Given the description of an element on the screen output the (x, y) to click on. 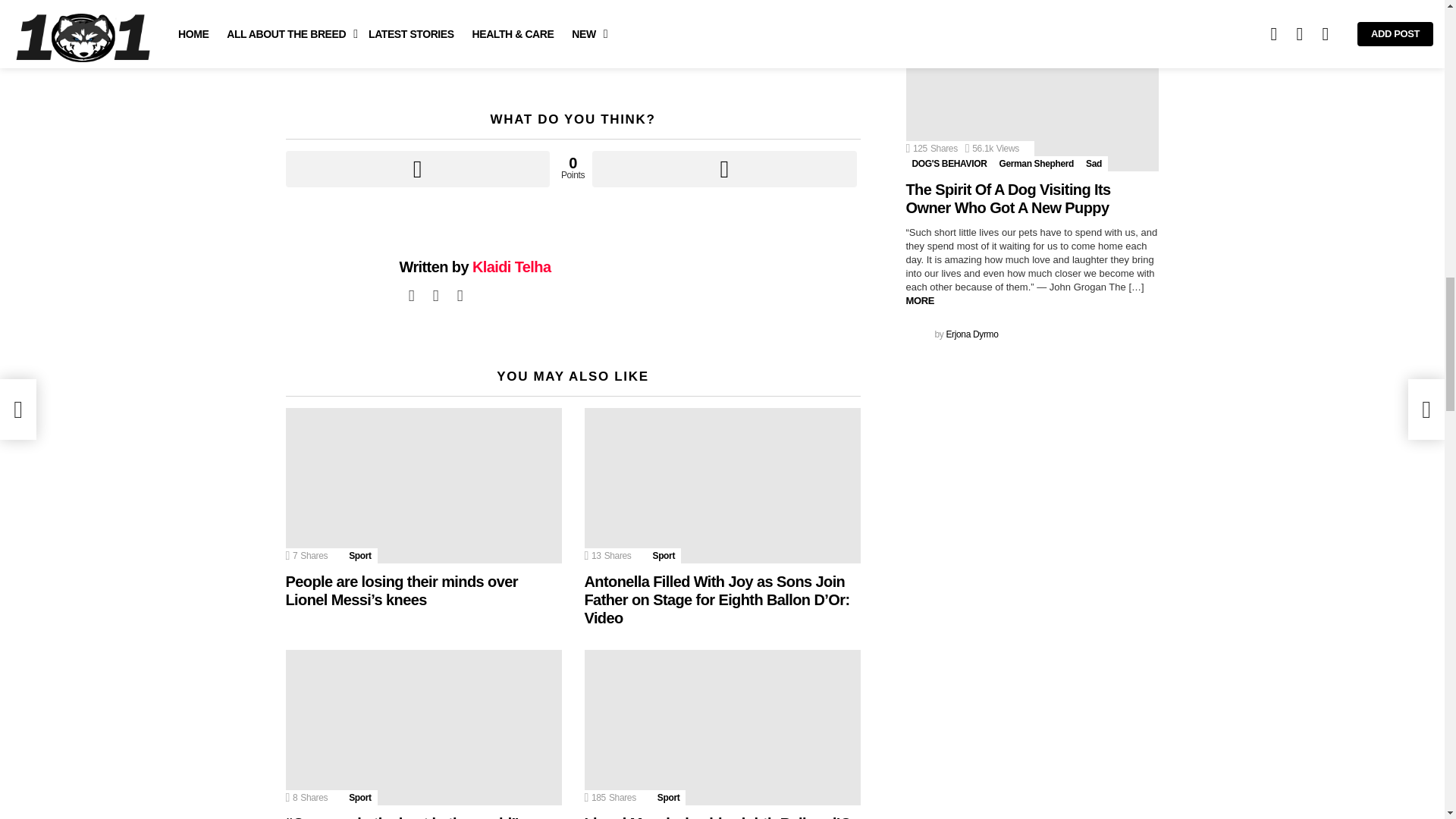
Upvote (416, 168)
Downvote (724, 168)
